Given the description of an element on the screen output the (x, y) to click on. 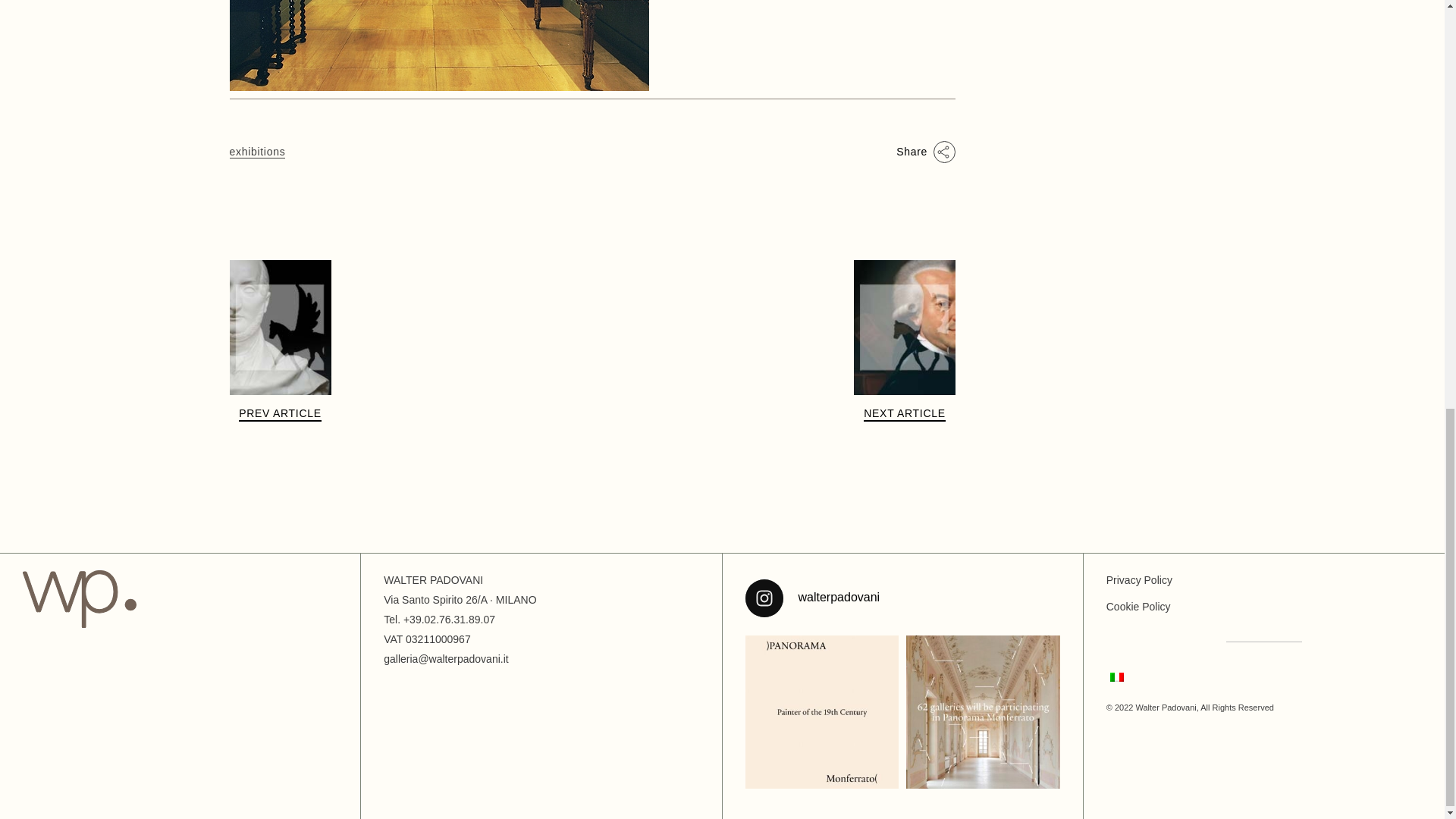
Italian (1116, 676)
Share (925, 151)
Cookie Policy  (1138, 606)
exhibitions (256, 152)
Privacy Policy  (1139, 580)
